Given the description of an element on the screen output the (x, y) to click on. 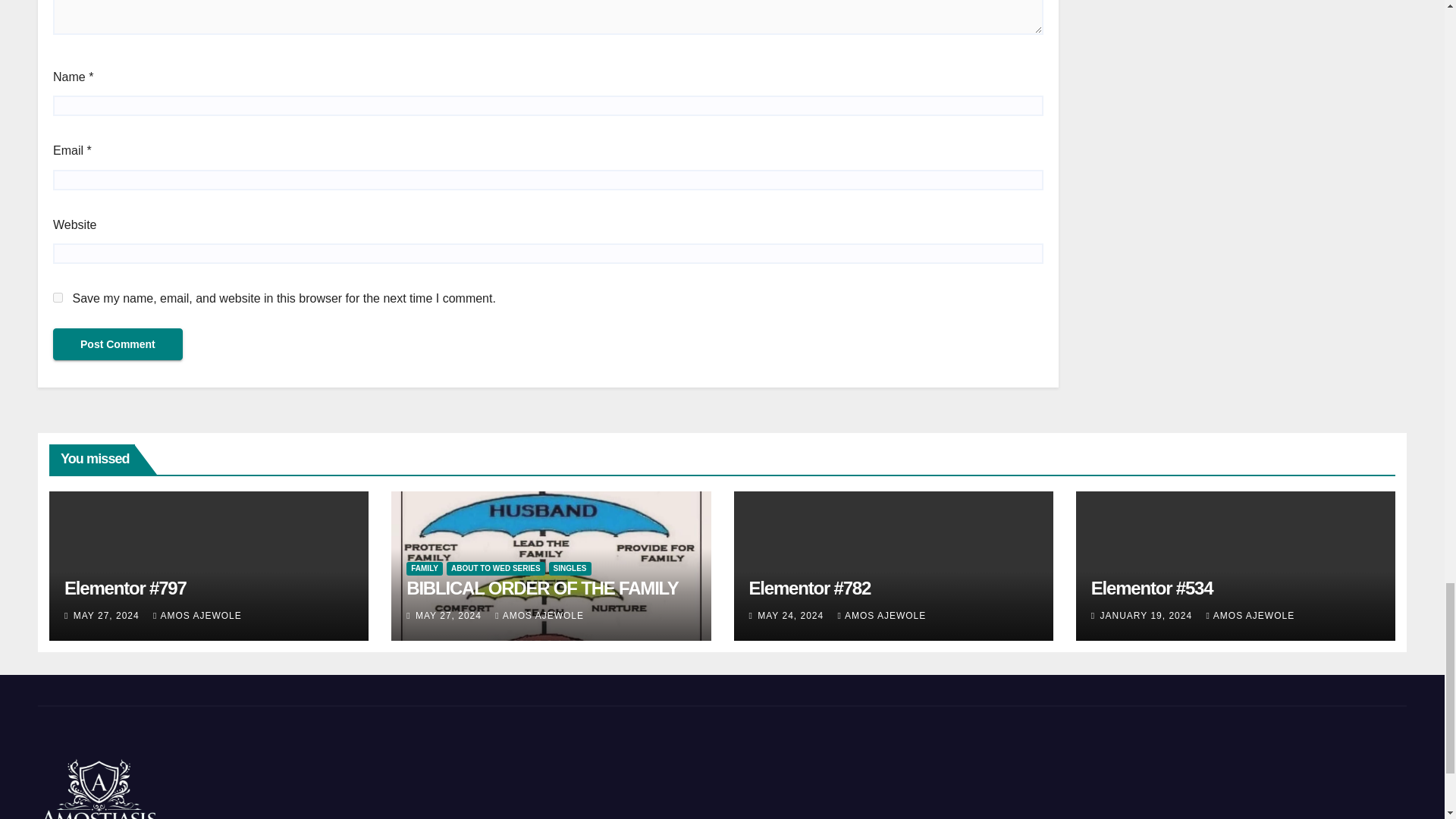
yes (57, 297)
Post Comment (117, 344)
